Given the description of an element on the screen output the (x, y) to click on. 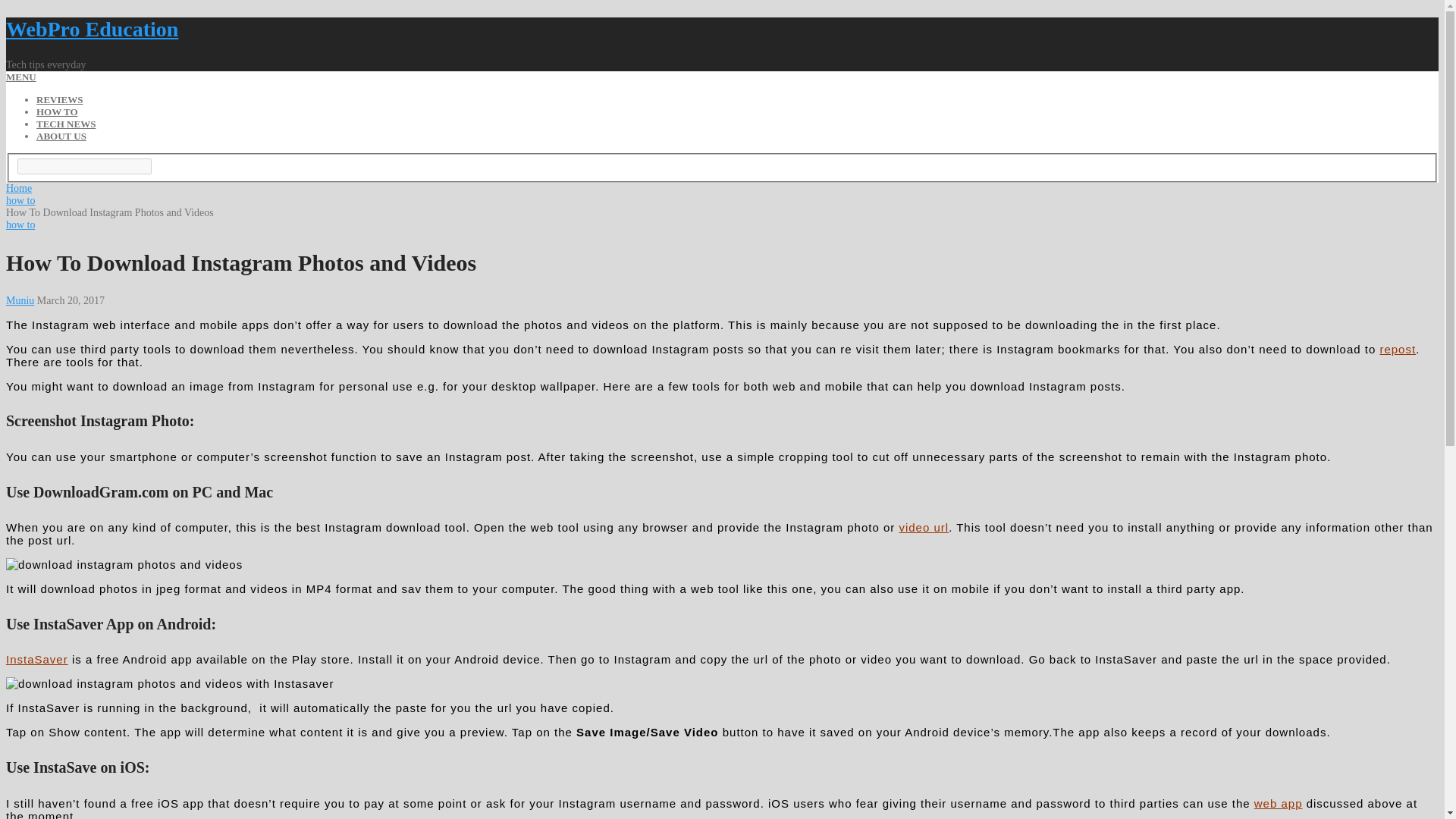
how to (19, 200)
InstaSaver (36, 658)
HOW TO (57, 111)
how to (19, 224)
WebPro Education (91, 28)
Muniu (19, 300)
repost (1396, 349)
ABOUT US (60, 135)
Home (18, 188)
web app (1278, 802)
MENU (20, 76)
REVIEWS (59, 99)
View all posts in how to (19, 224)
TECH NEWS (66, 123)
Posts by Muniu (19, 300)
